Given the description of an element on the screen output the (x, y) to click on. 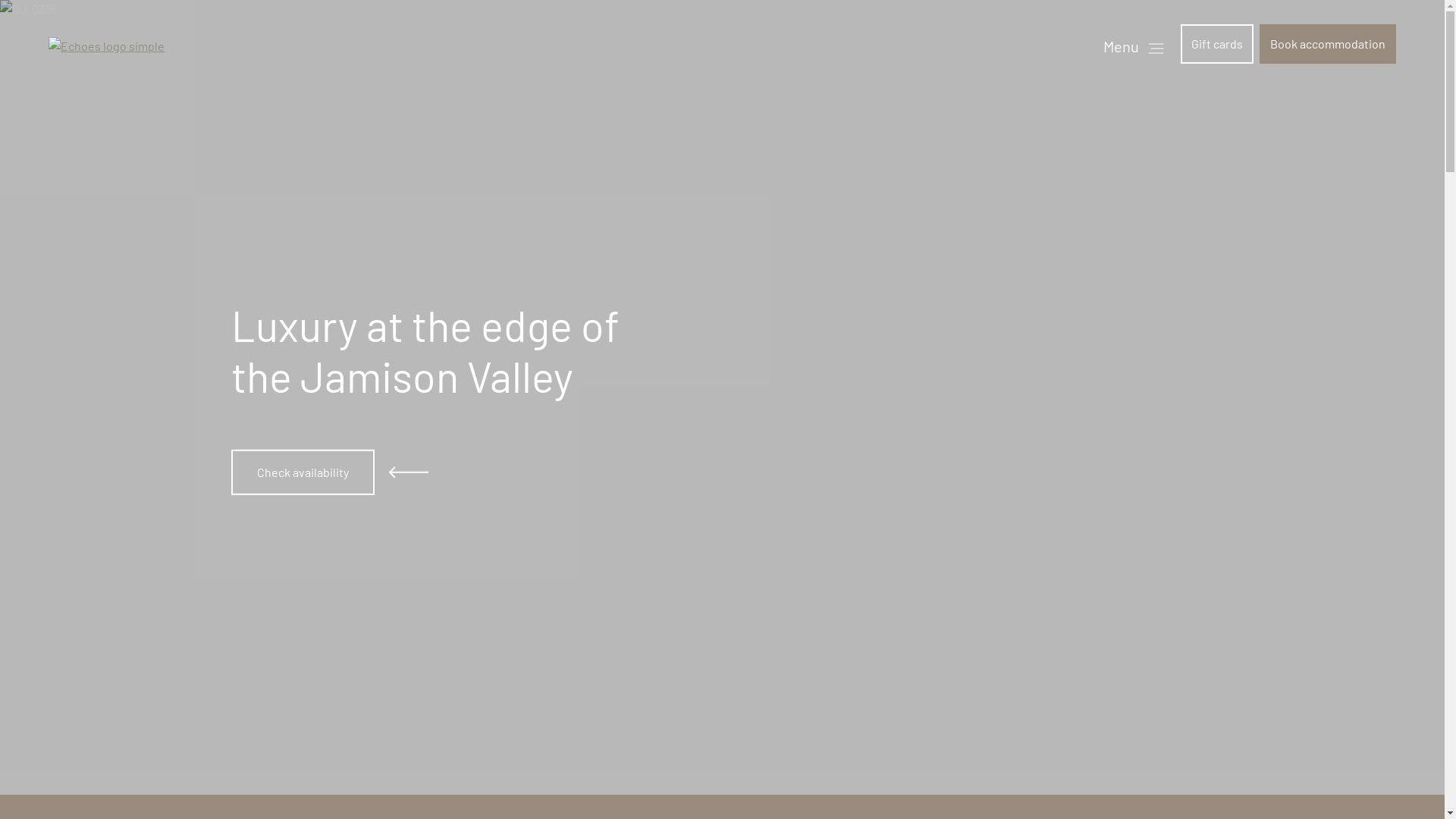
Check availability Element type: text (301, 472)
Menu Element type: text (1133, 46)
Gift cards Element type: text (1216, 43)
Book accommodation Element type: text (1327, 43)
